Given the description of an element on the screen output the (x, y) to click on. 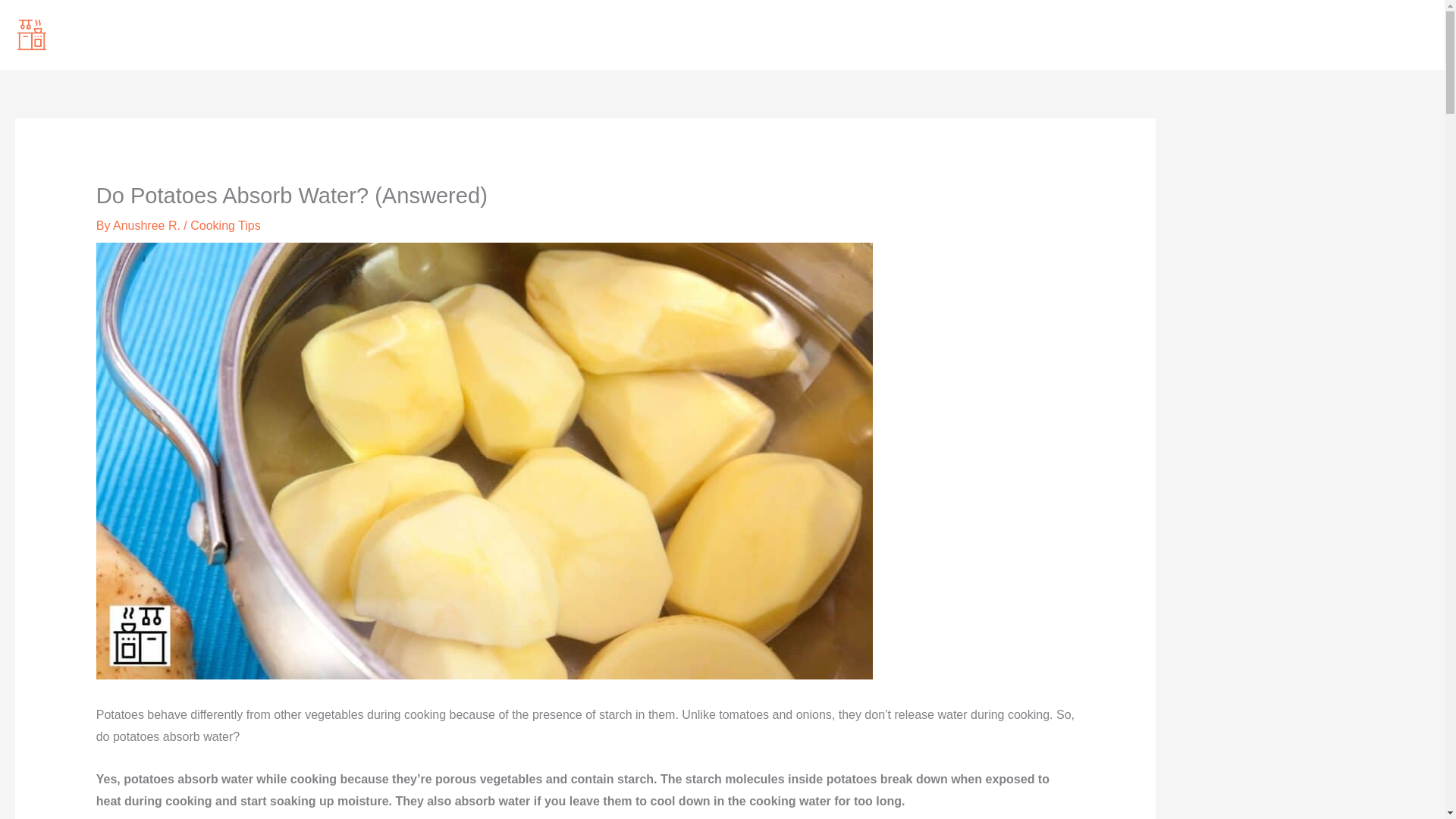
Appliances (1180, 34)
Anushree R. (148, 225)
View all posts by Anushree R. (148, 225)
Utensils (1252, 34)
Cooking Tips (225, 225)
Cooking Tips (1329, 34)
